Given the description of an element on the screen output the (x, y) to click on. 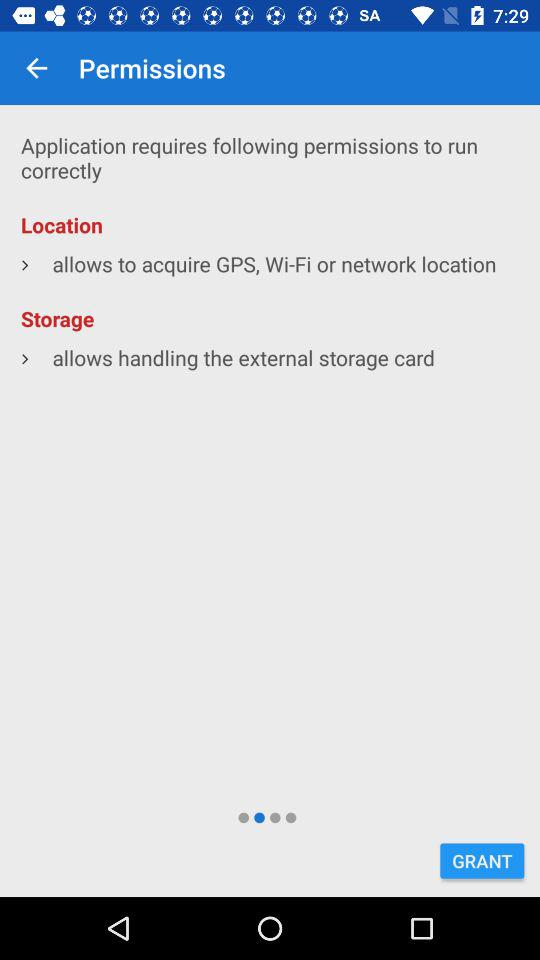
choose grant icon (482, 860)
